Given the description of an element on the screen output the (x, y) to click on. 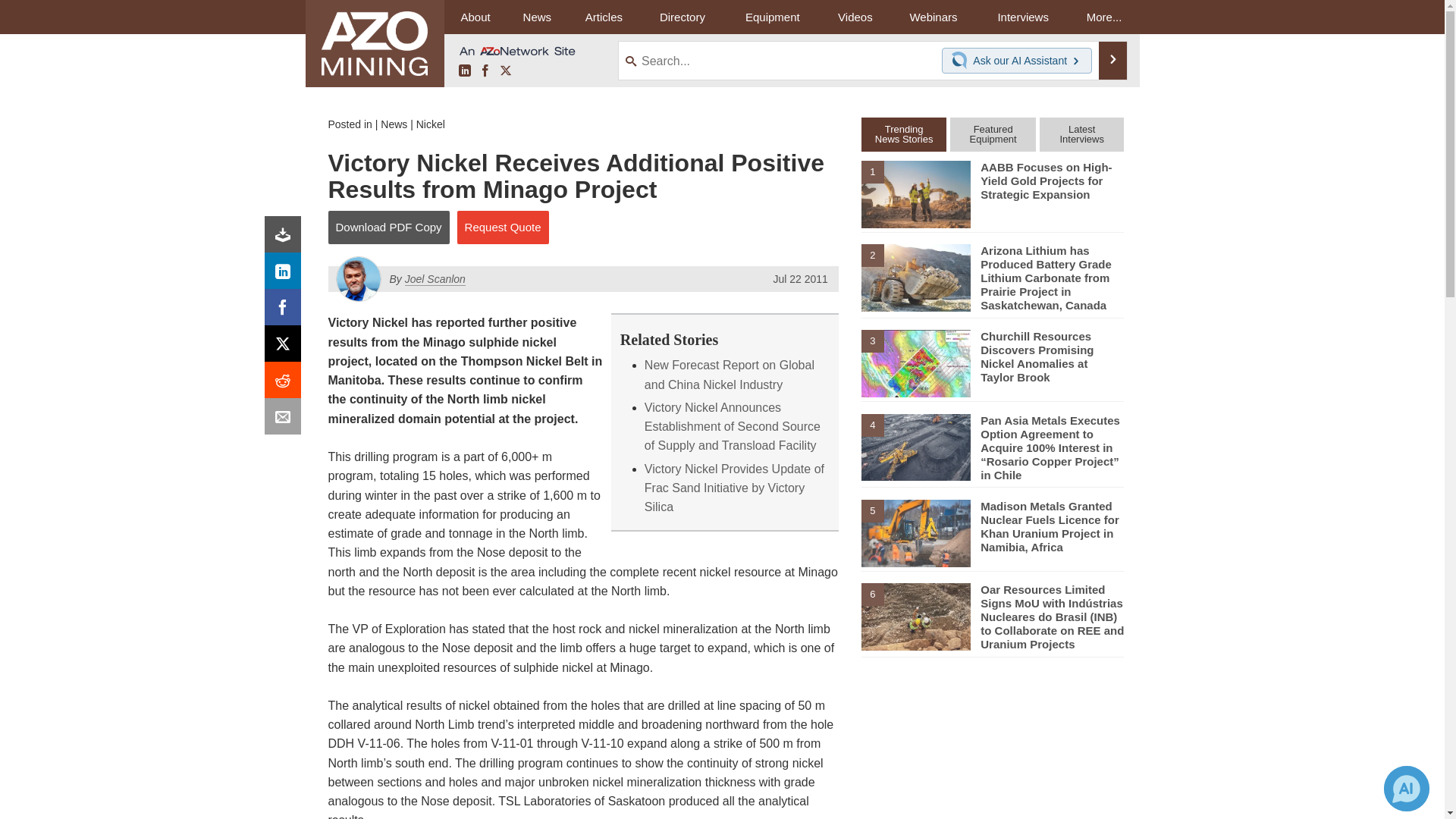
Facebook (285, 311)
LinkedIn (285, 275)
About (475, 17)
X (505, 71)
Equipment (772, 17)
News (393, 123)
Nickel (430, 123)
LinkedIn (464, 71)
Chat with our AI Assistant Ask our AI Assistant (1017, 60)
Facebook (485, 71)
